Given the description of an element on the screen output the (x, y) to click on. 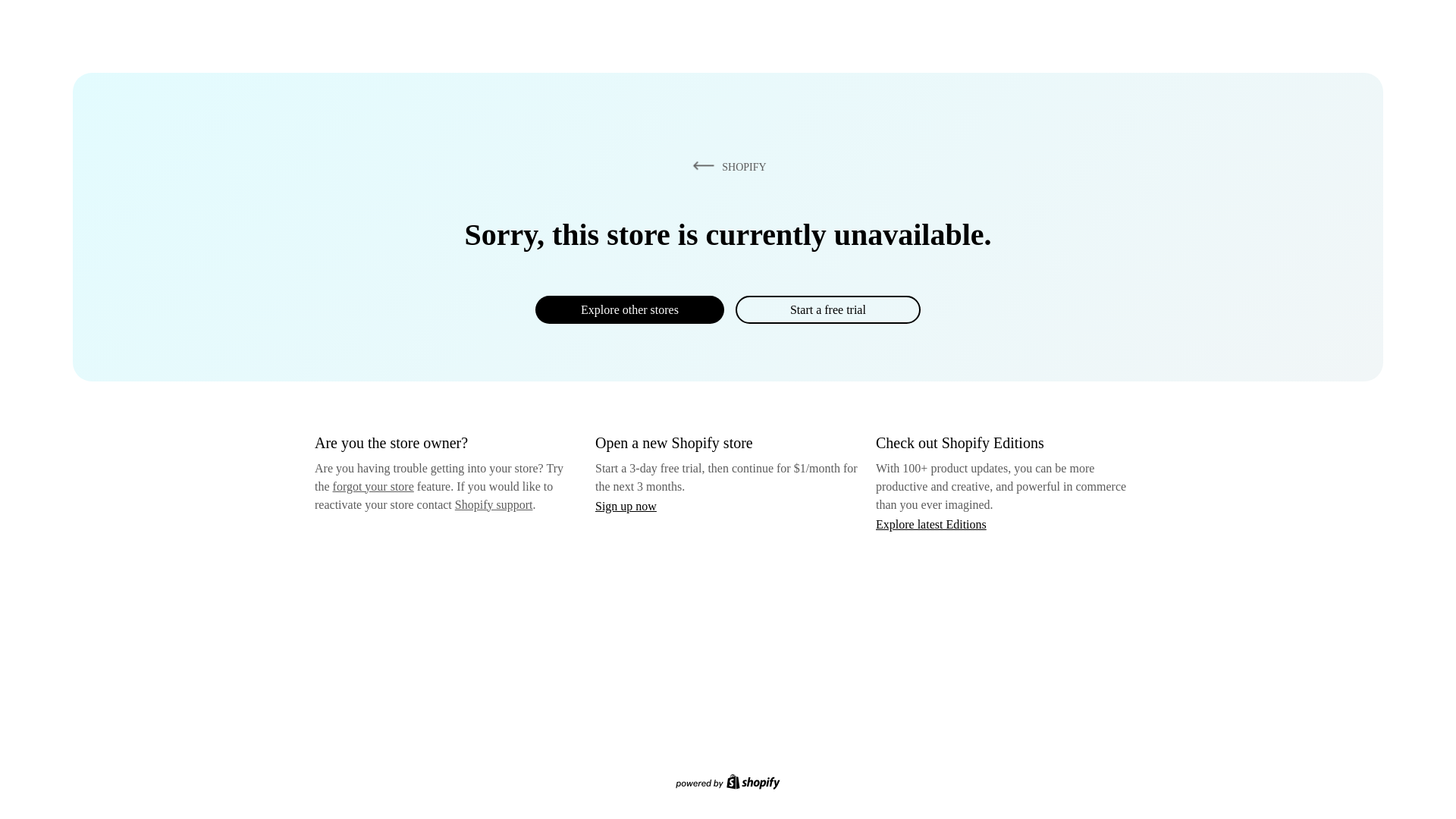
Explore other stores (629, 309)
Sign up now (625, 505)
Explore latest Editions (931, 523)
SHOPIFY (726, 166)
Start a free trial (827, 309)
forgot your store (373, 486)
Shopify support (493, 504)
